Given the description of an element on the screen output the (x, y) to click on. 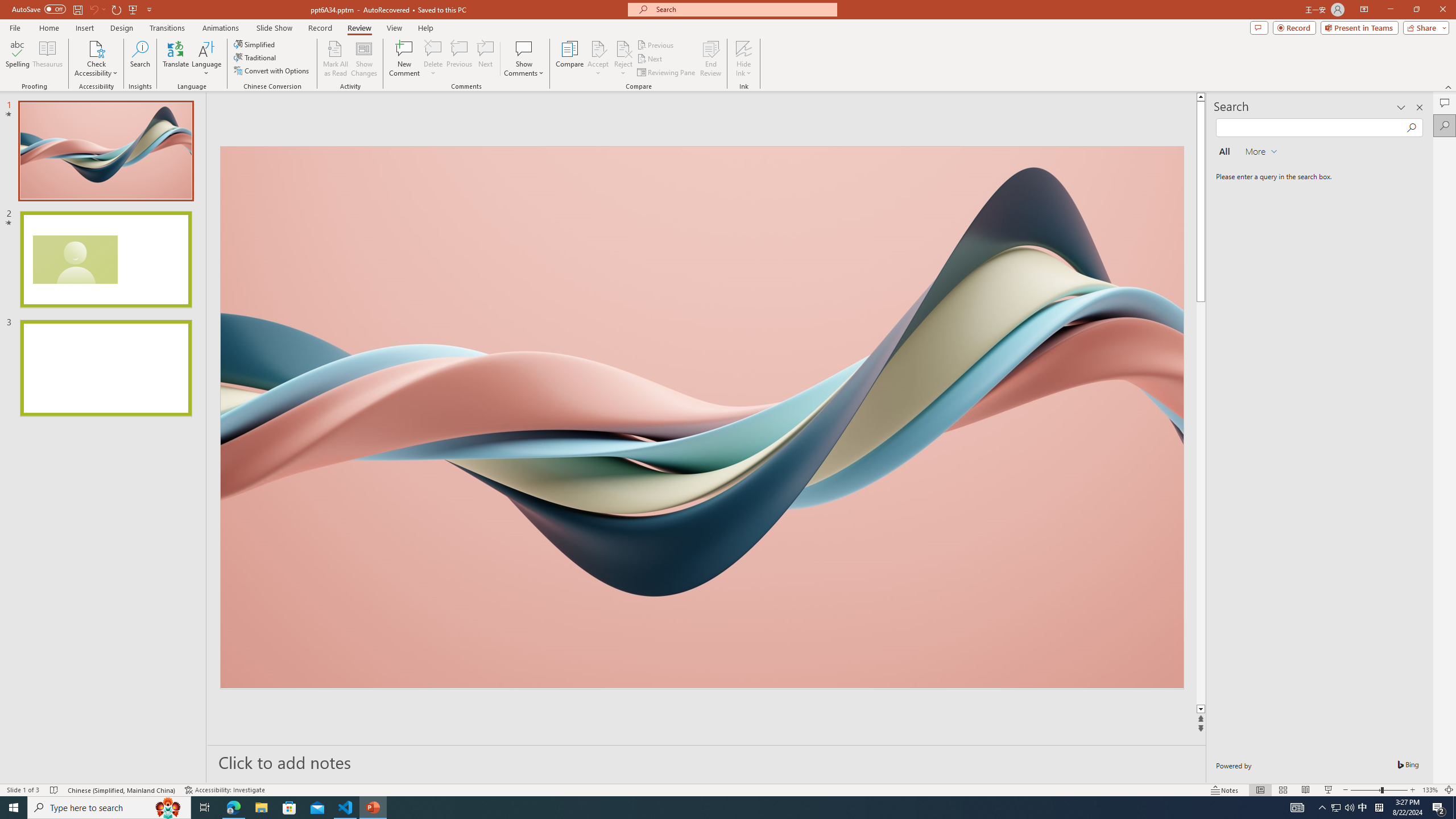
Previous (655, 44)
Accept Change (598, 48)
